Given the description of an element on the screen output the (x, y) to click on. 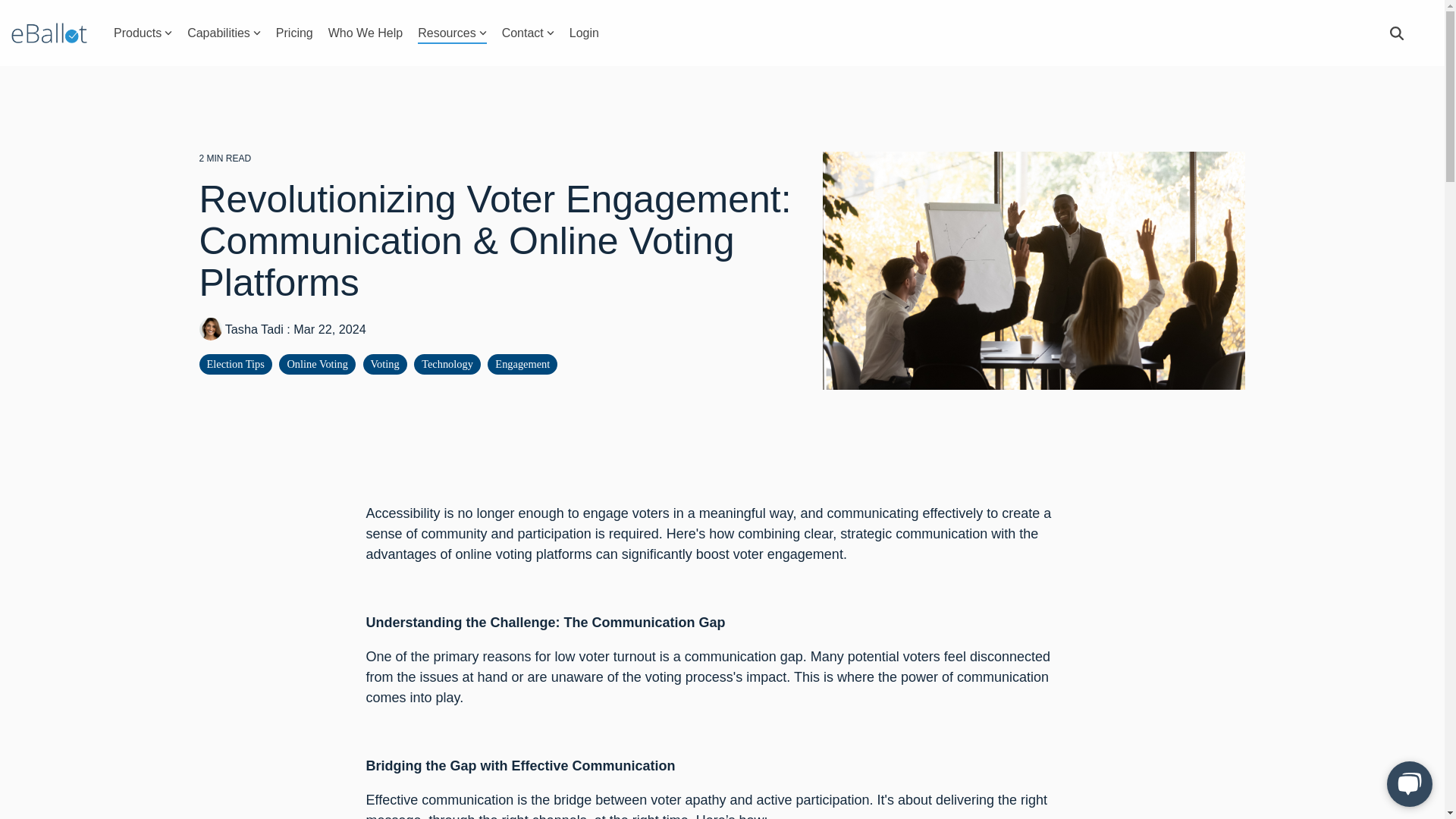
Who We Help (366, 32)
Contact (528, 32)
Login (583, 32)
Pricing (294, 32)
eb-dark-letters-200px (49, 32)
Products (142, 32)
Capabilities (223, 32)
Resources (451, 32)
